Given the description of an element on the screen output the (x, y) to click on. 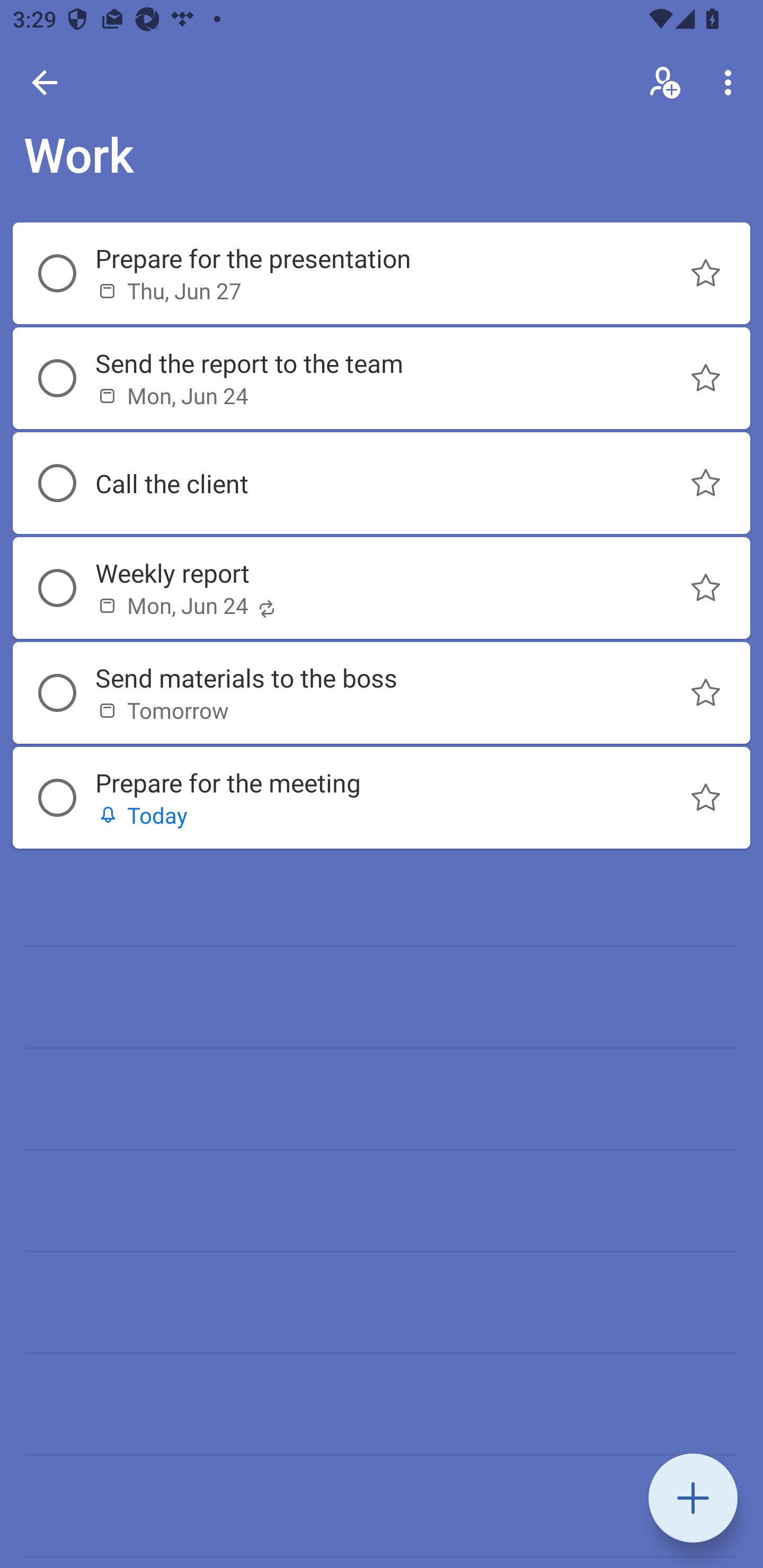
Add a task (692, 1497)
